Given the description of an element on the screen output the (x, y) to click on. 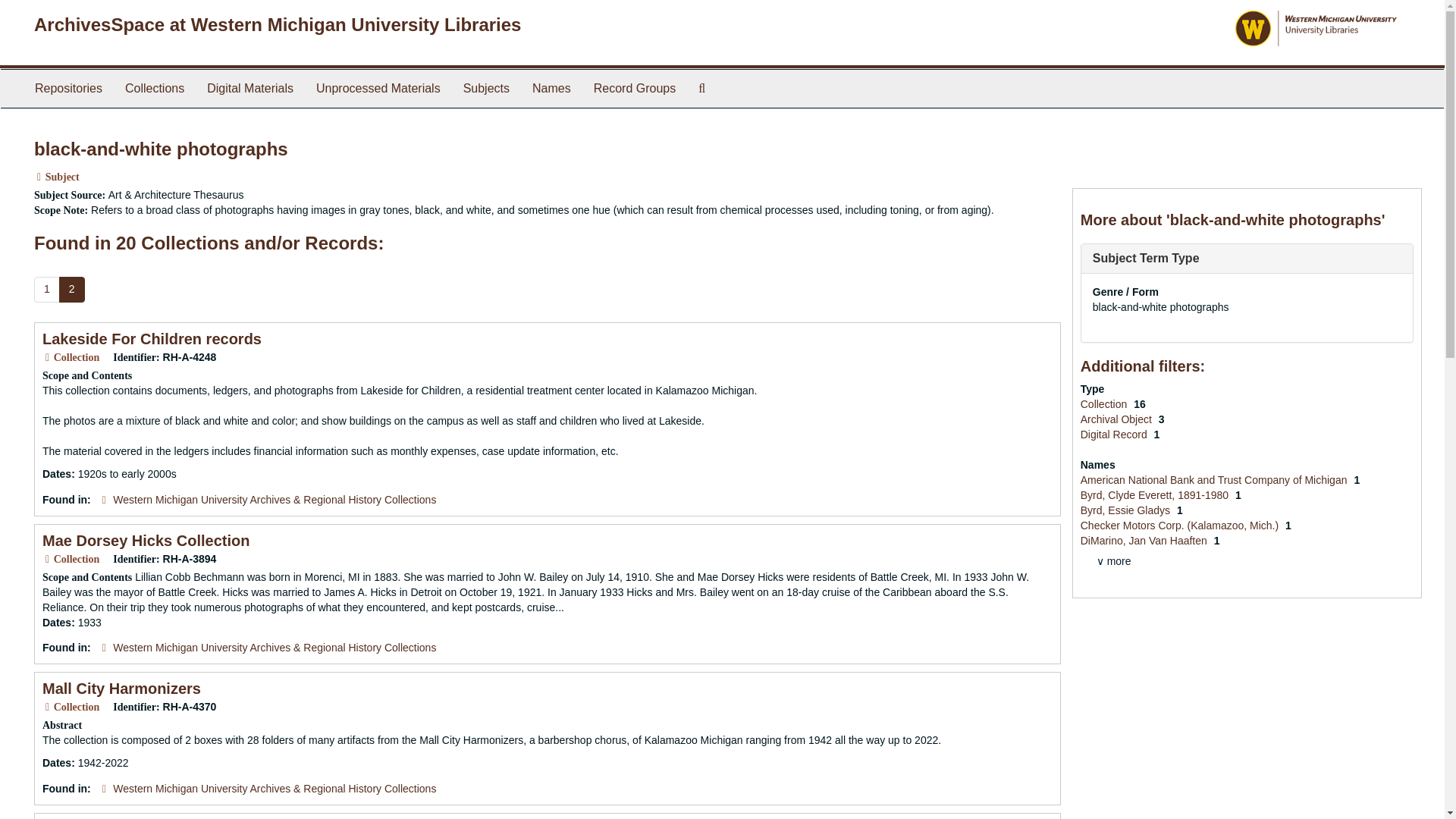
2 (71, 289)
ArchivesSpace at Western Michigan University Libraries (277, 24)
Subject Term Type (1146, 257)
1 (46, 289)
Digital Materials (249, 88)
Mae Dorsey Hicks Collection (145, 540)
Subjects (486, 88)
Lakeside For Children records (152, 338)
Unprocessed Materials (377, 88)
Filter By 'Digital Record' (1115, 434)
